Given the description of an element on the screen output the (x, y) to click on. 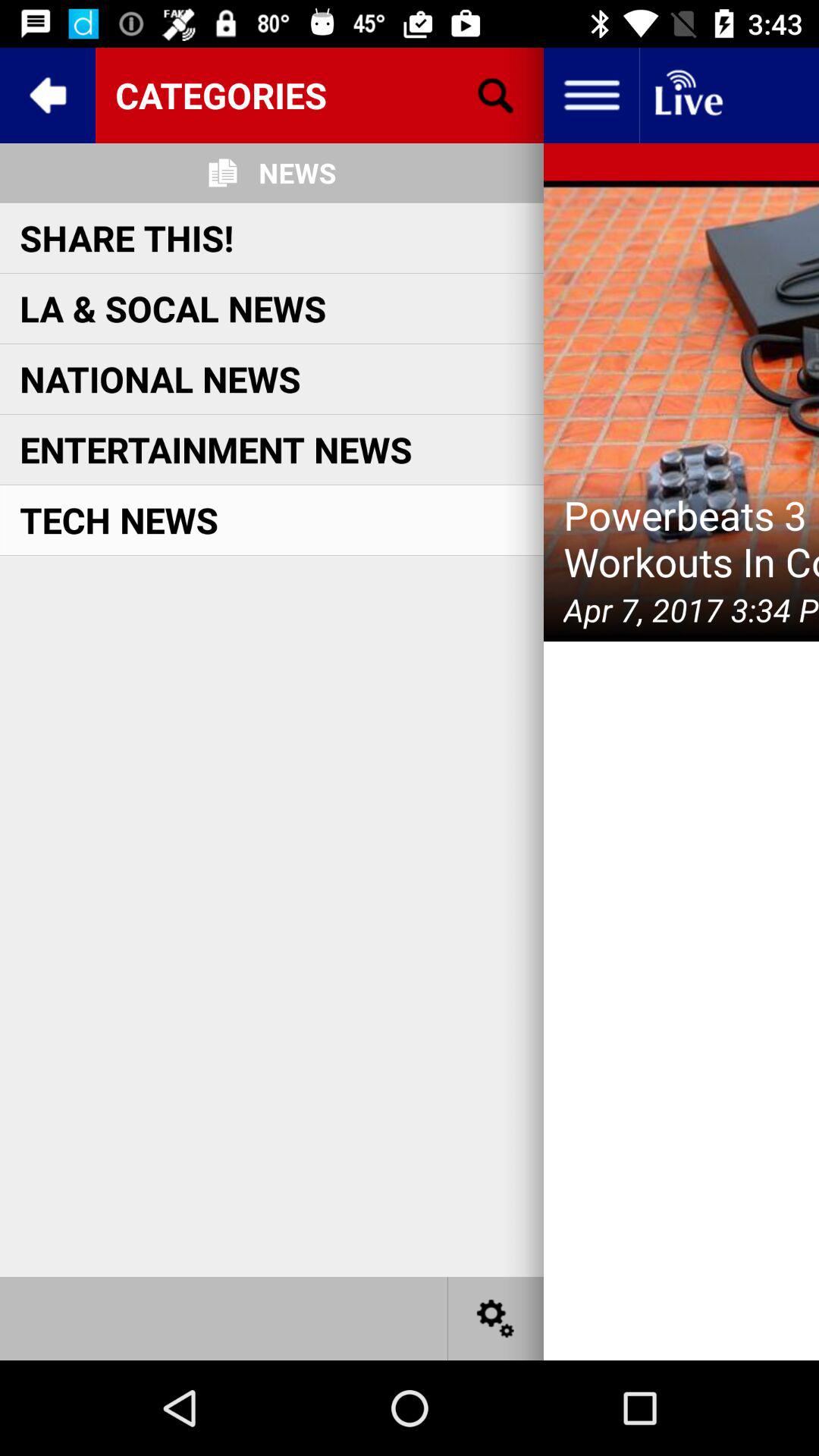
turn on item above news (319, 95)
